Given the description of an element on the screen output the (x, y) to click on. 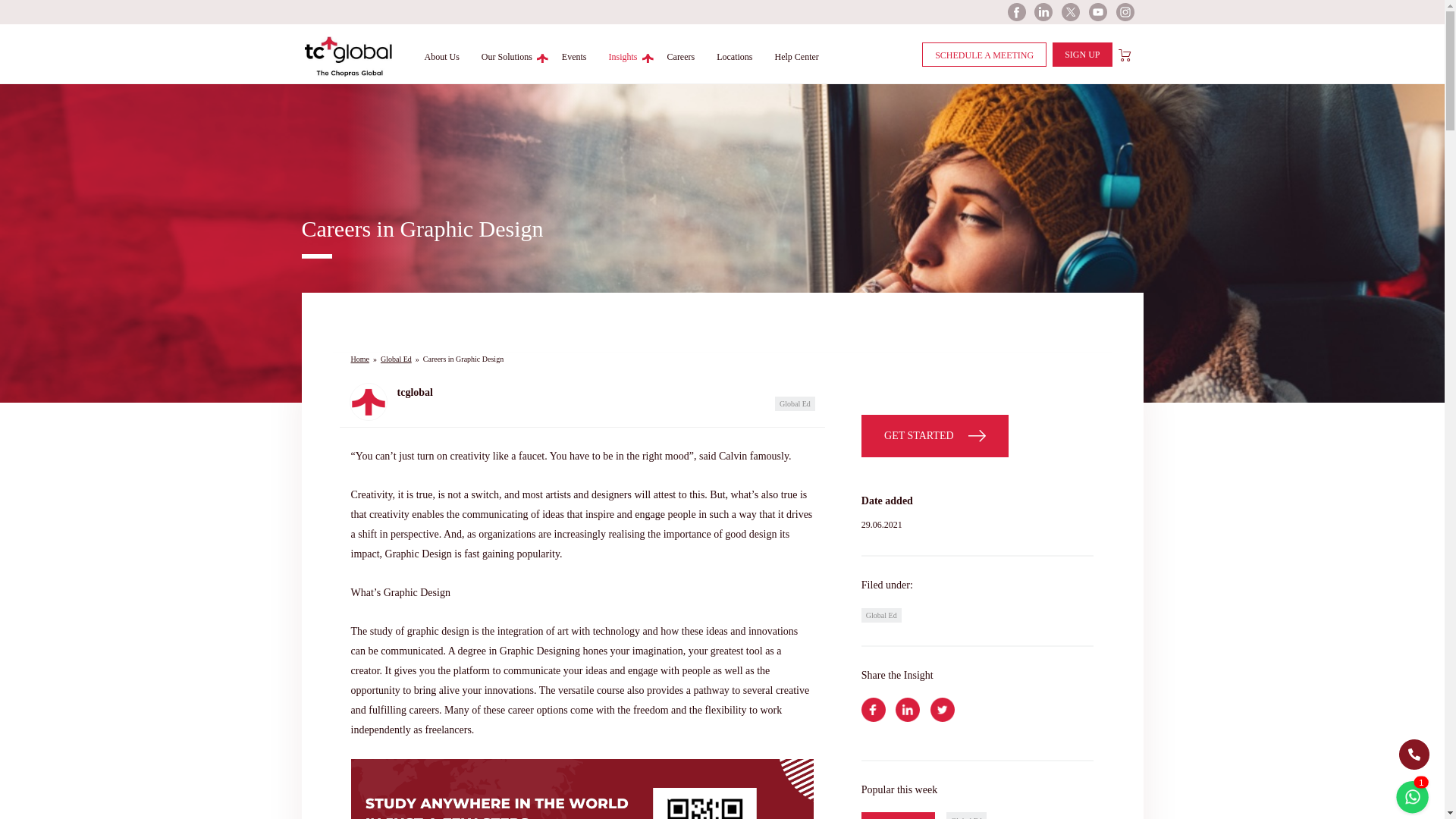
Our Solutions (506, 56)
tcglobal (464, 401)
Home (359, 358)
GET STARTED (935, 435)
Locations (734, 56)
Help Center (796, 56)
SCHEDULE A MEETING (983, 54)
Global Ed (396, 358)
SIGN UP (1082, 54)
About Us (442, 56)
